Given the description of an element on the screen output the (x, y) to click on. 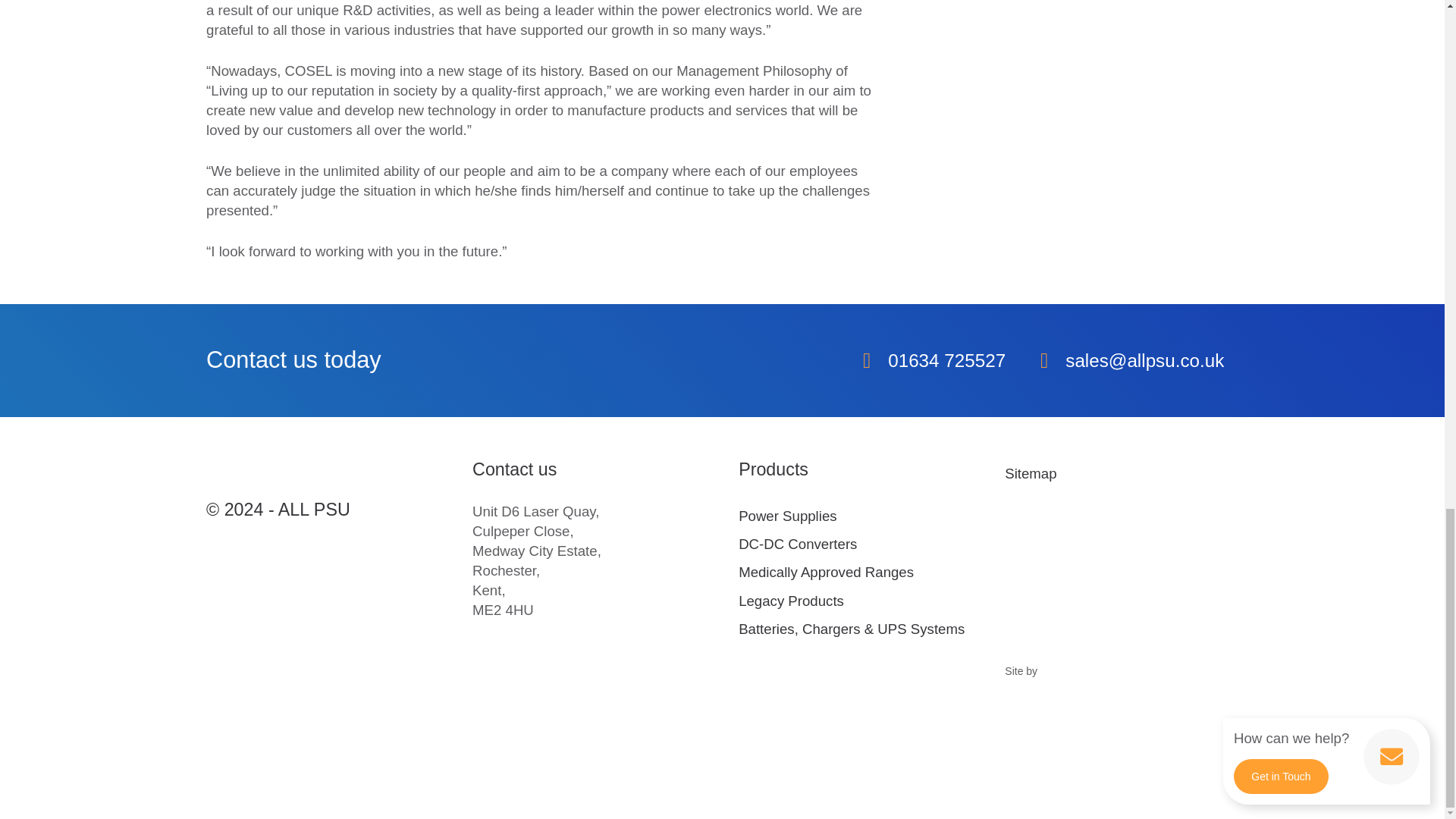
DC-DC Converters (797, 544)
Legacy Products (791, 600)
Sitemap (1030, 473)
Medically Approved Ranges (826, 571)
Power Supplies (786, 515)
01634 725527 (931, 360)
